Given the description of an element on the screen output the (x, y) to click on. 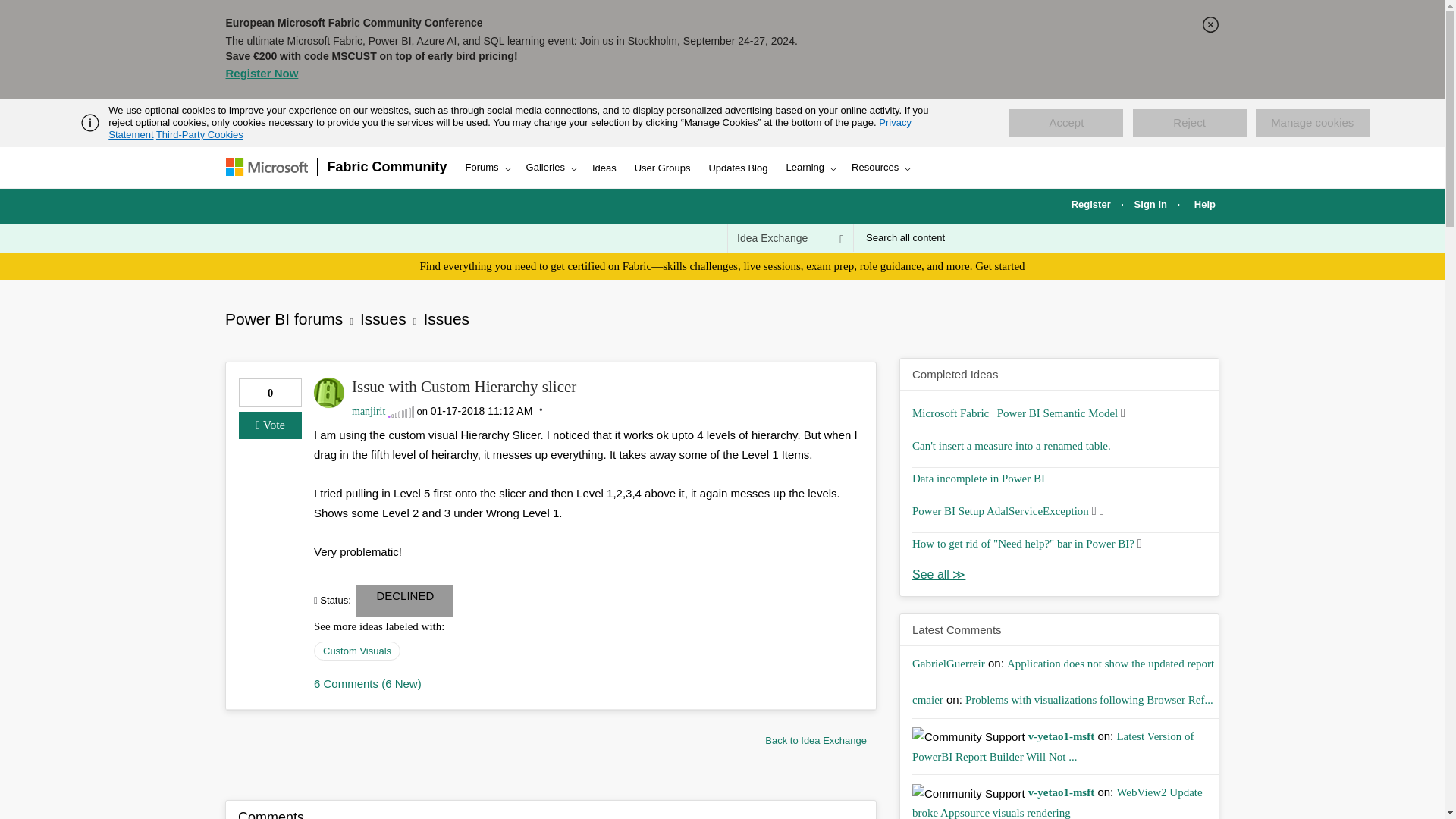
Click here to give kudos to this post. (269, 424)
Reject (1189, 122)
Fabric Community (387, 167)
Helper I (400, 411)
Privacy Statement (509, 128)
Resources (880, 168)
Search (1198, 237)
Ideas (604, 168)
Search (1198, 237)
User Groups (663, 168)
Issues (815, 739)
Galleries (549, 168)
manjirit (328, 392)
The total number of kudos this post has received. (270, 392)
Manage cookies (1312, 122)
